Given the description of an element on the screen output the (x, y) to click on. 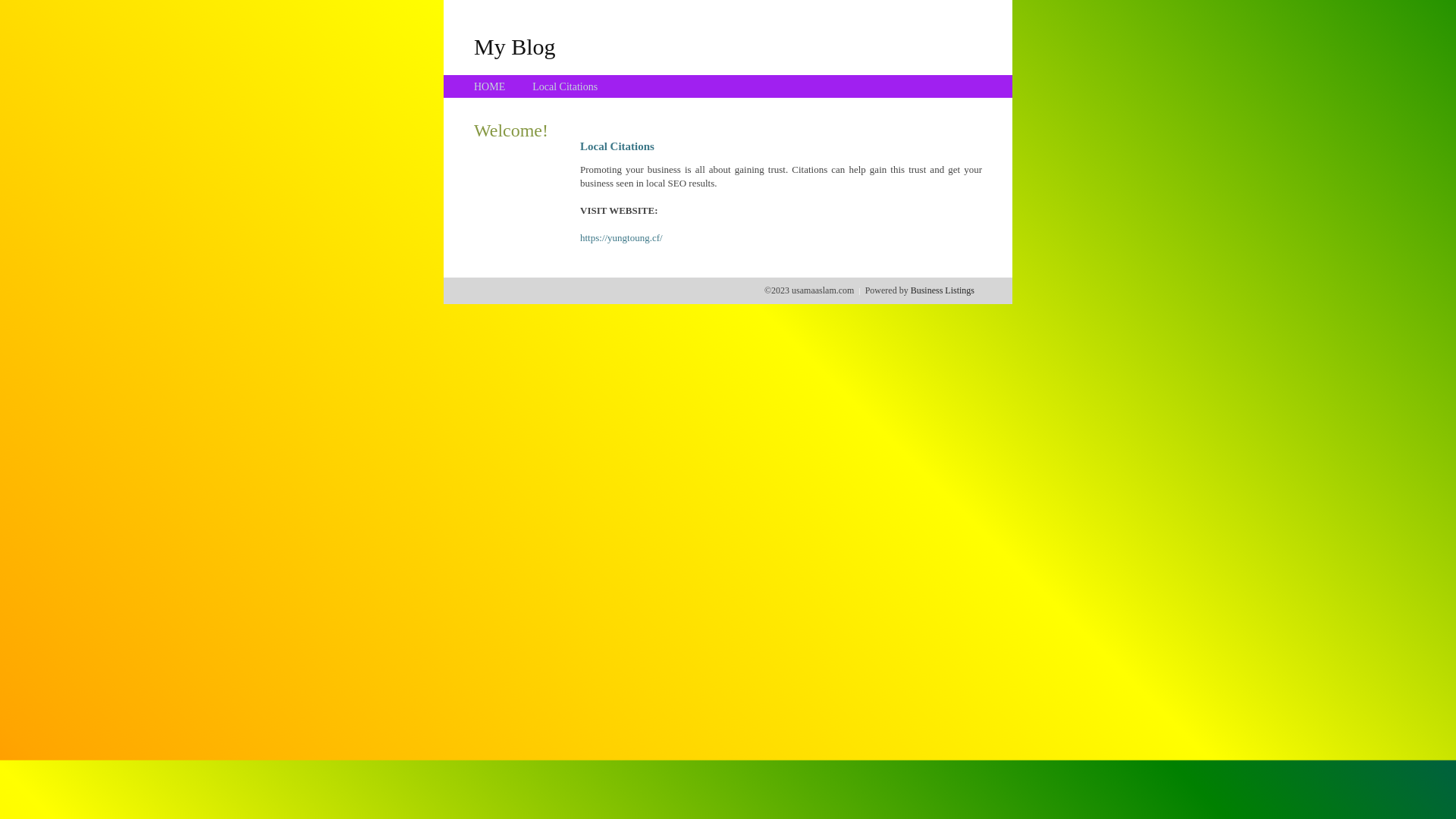
https://yungtoung.cf/ Element type: text (621, 237)
Business Listings Element type: text (942, 290)
Local Citations Element type: text (564, 86)
My Blog Element type: text (514, 46)
HOME Element type: text (489, 86)
